Given the description of an element on the screen output the (x, y) to click on. 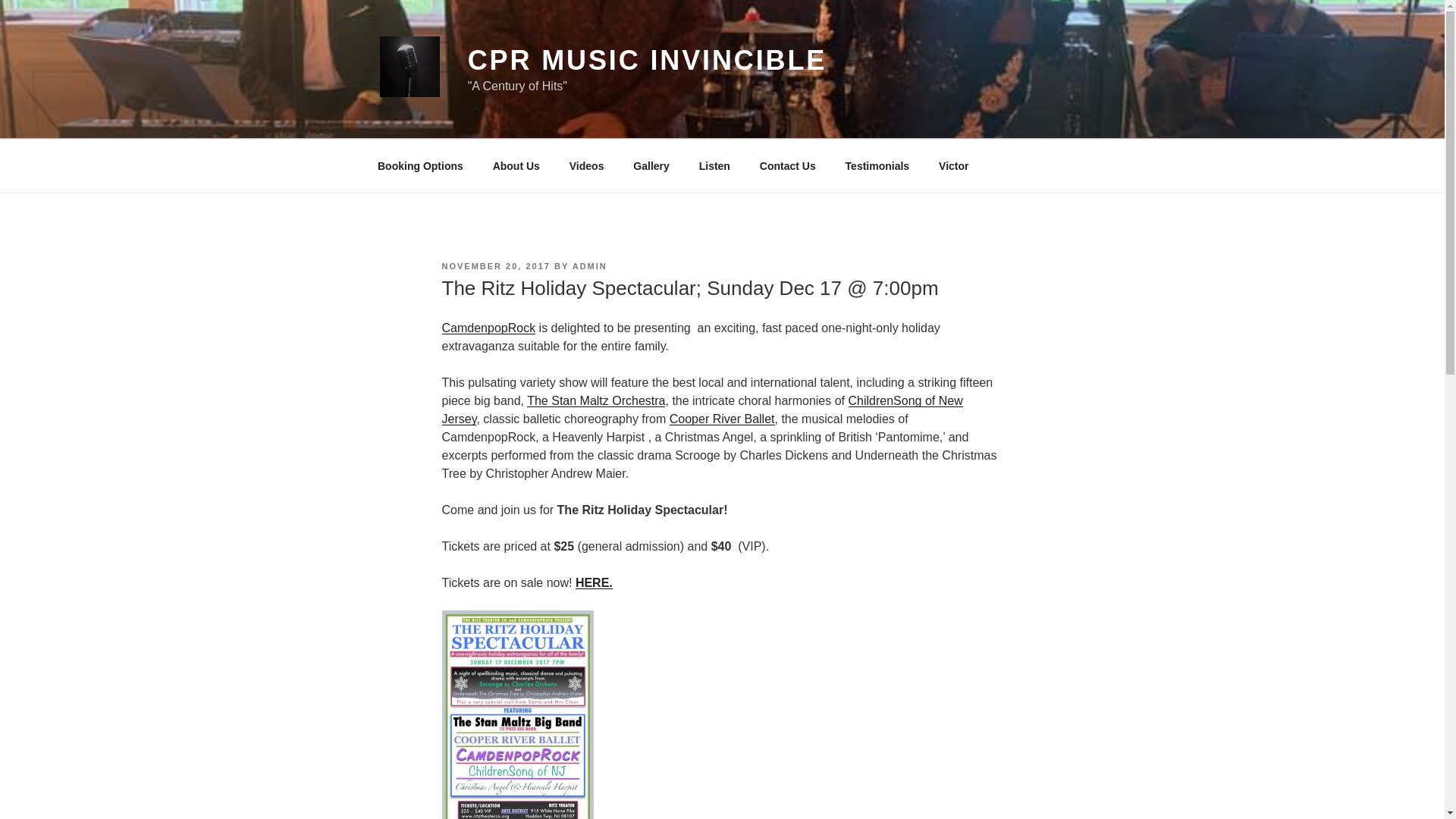
HERE. (593, 582)
ADMIN (589, 266)
ChildrenSong of New Jersey (701, 409)
Cooper River Ballet (721, 418)
The Stan Maltz Orchestra (596, 400)
CPR MUSIC INVINCIBLE (647, 60)
NOVEMBER 20, 2017 (495, 266)
Booking Options (420, 165)
Contact Us (786, 165)
About Us (516, 165)
